Given the description of an element on the screen output the (x, y) to click on. 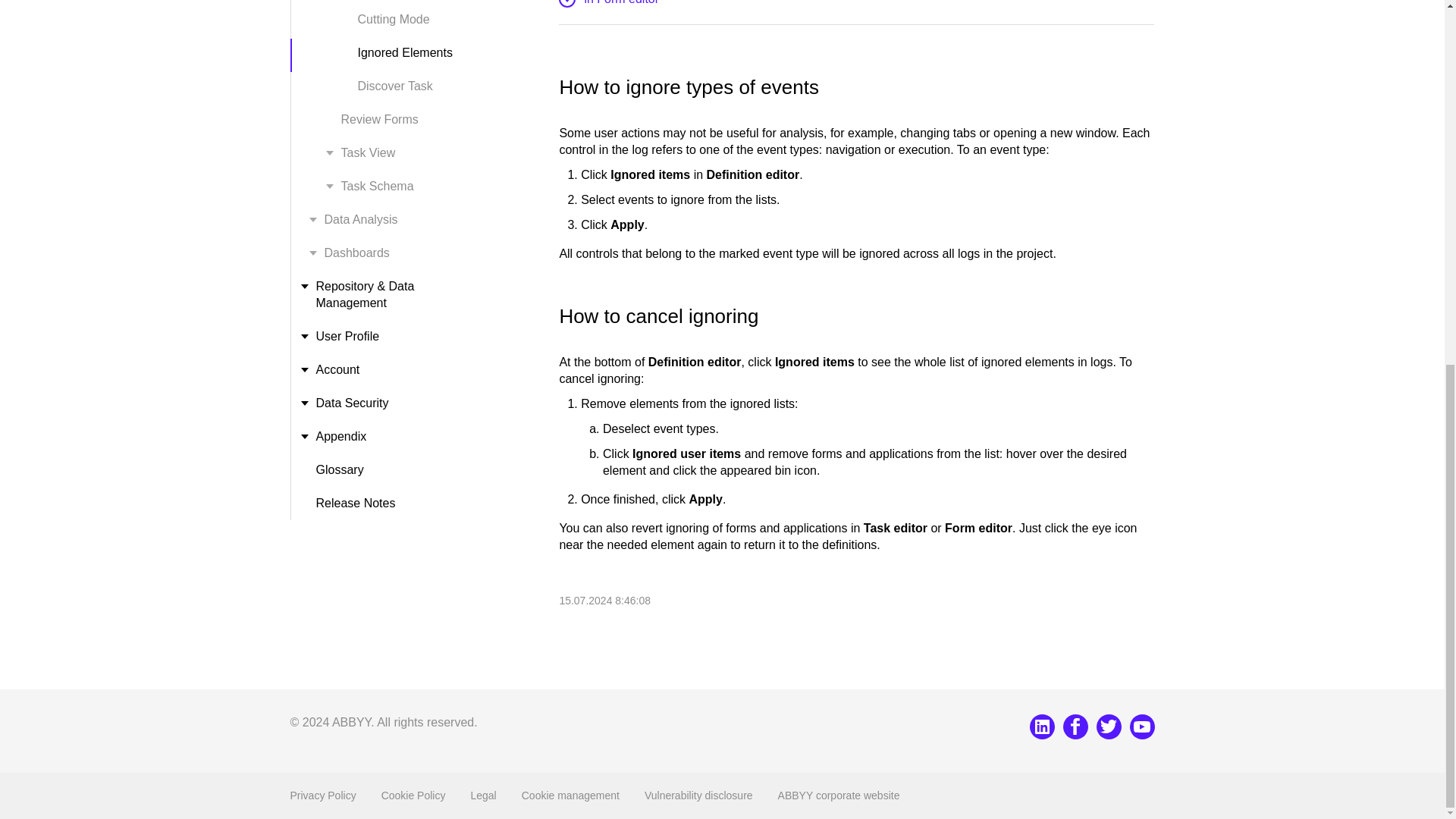
Facebook (1074, 726)
Legal (483, 795)
Twitter (1108, 726)
Privacy (322, 795)
Cookie management (570, 795)
Youtube (1141, 726)
LinkedIn (1041, 726)
